Given the description of an element on the screen output the (x, y) to click on. 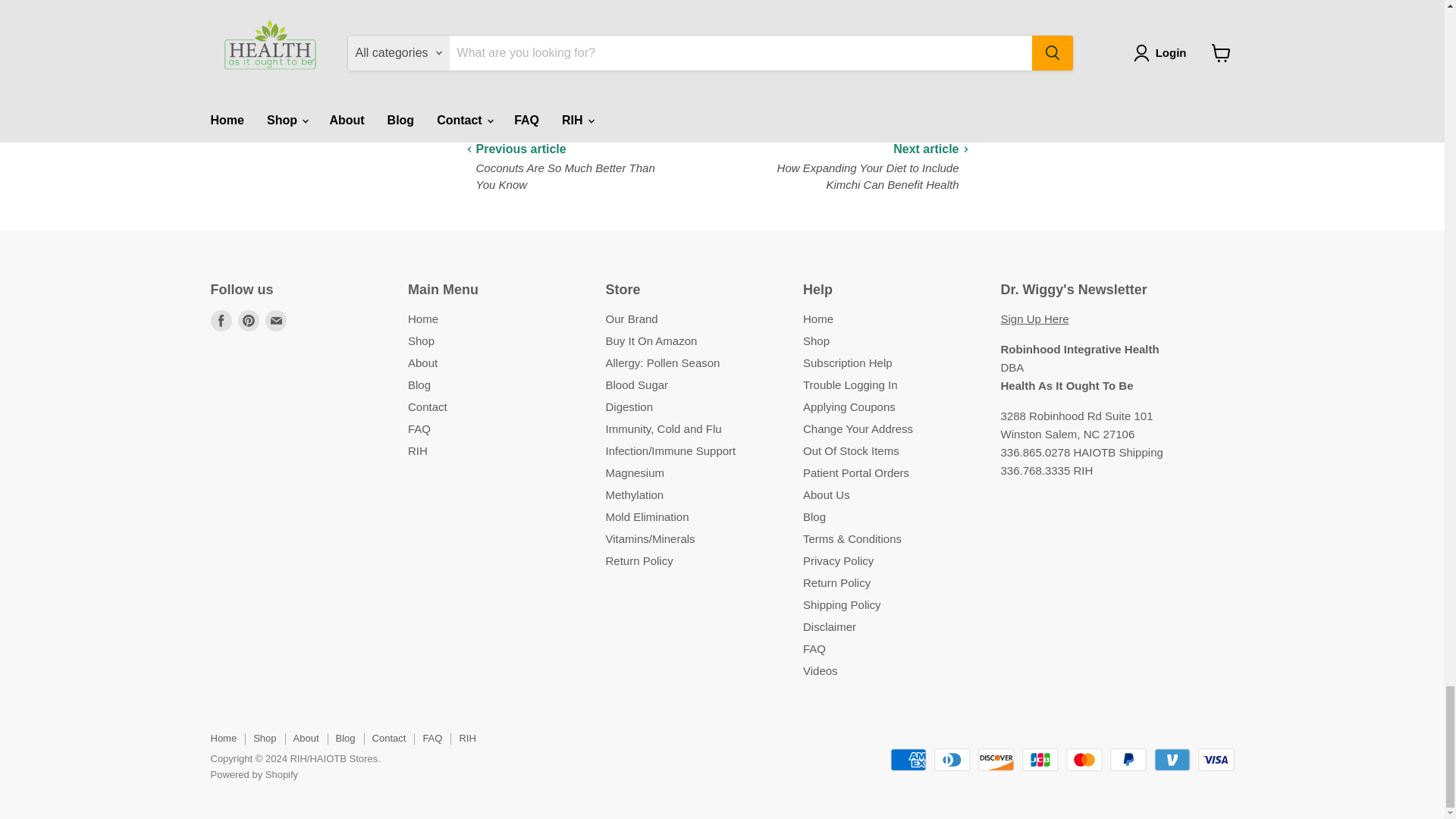
Show articles tagged energy (534, 84)
Facebook (221, 320)
Diners Club (952, 759)
Show articles tagged Mood (572, 84)
JCB (1040, 759)
Discover (996, 759)
American Express (907, 759)
Email (275, 320)
Show articles tagged Pain Relif (617, 84)
Pinterest (248, 320)
